Given the description of an element on the screen output the (x, y) to click on. 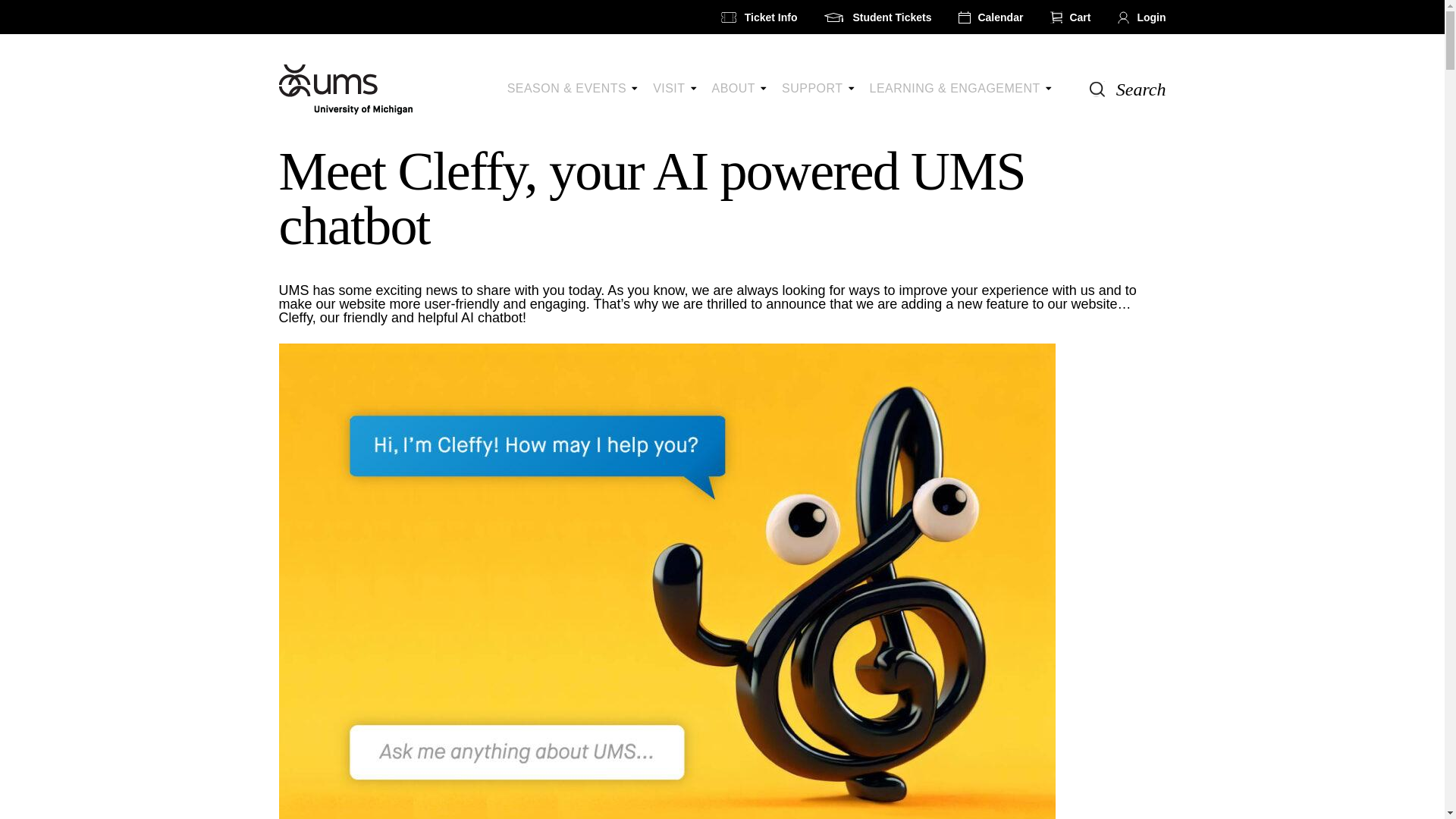
VISIT (673, 88)
Calendar (990, 16)
ABOUT (739, 88)
Student Tickets (877, 16)
SUPPORT (817, 88)
Ticket Info (758, 16)
Cart (1069, 16)
Login (1142, 16)
